Given the description of an element on the screen output the (x, y) to click on. 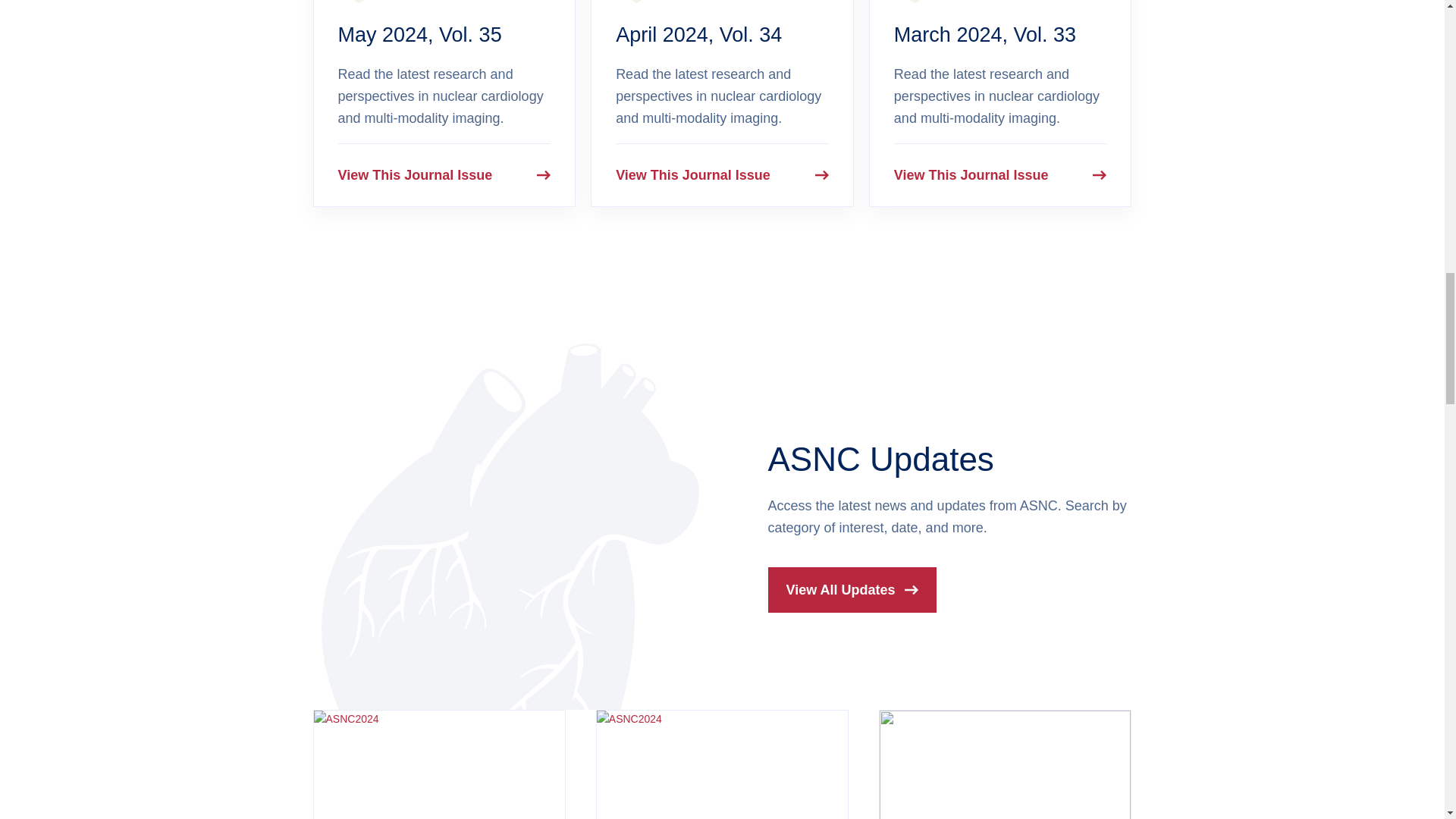
ASNC Updates (879, 458)
March 2024, Vol. 33 (984, 34)
April 2024, Vol. 34 (698, 34)
May 2024, Vol. 35 (419, 34)
